Given the description of an element on the screen output the (x, y) to click on. 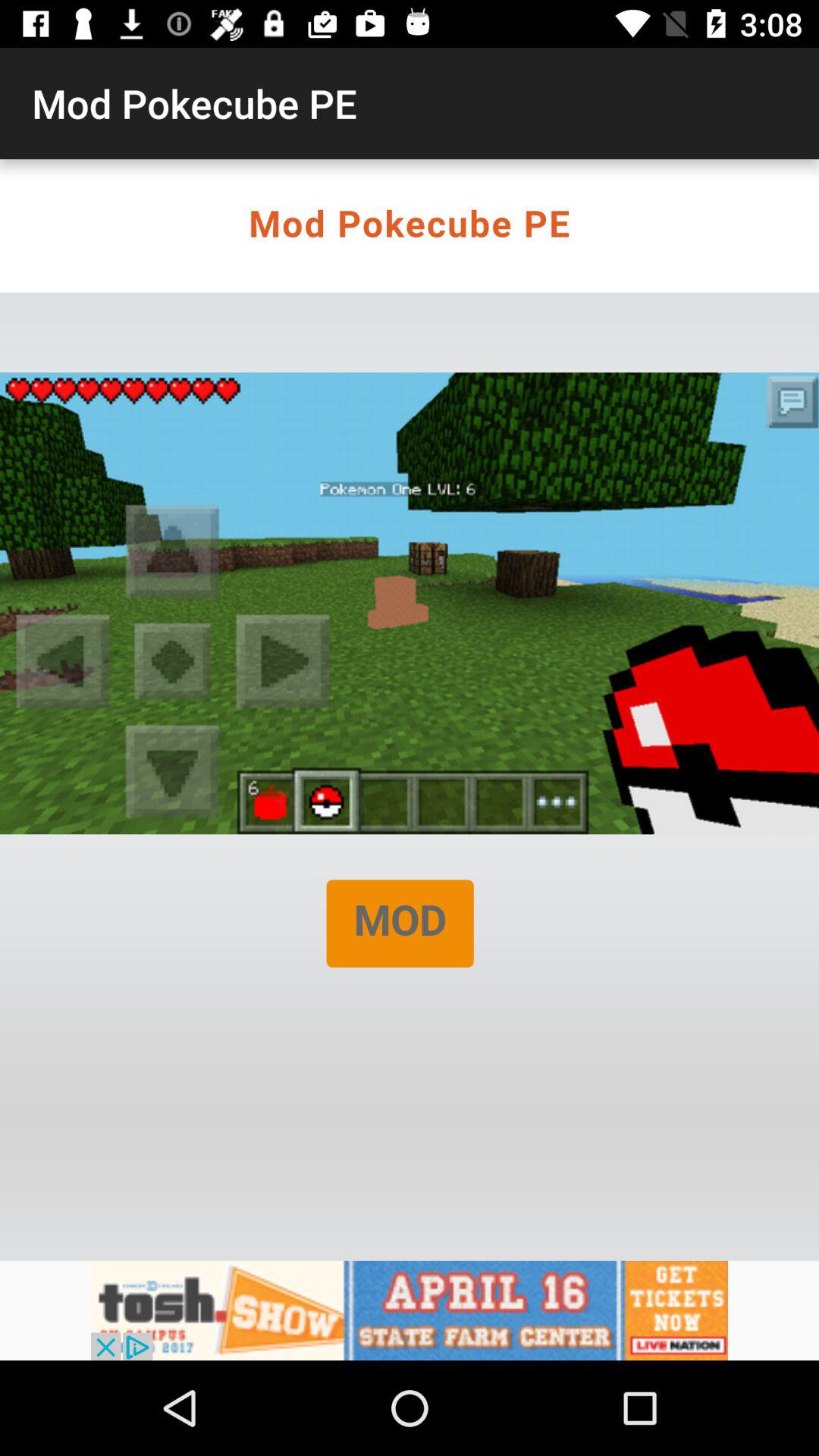
click on advertisement (409, 1310)
